Given the description of an element on the screen output the (x, y) to click on. 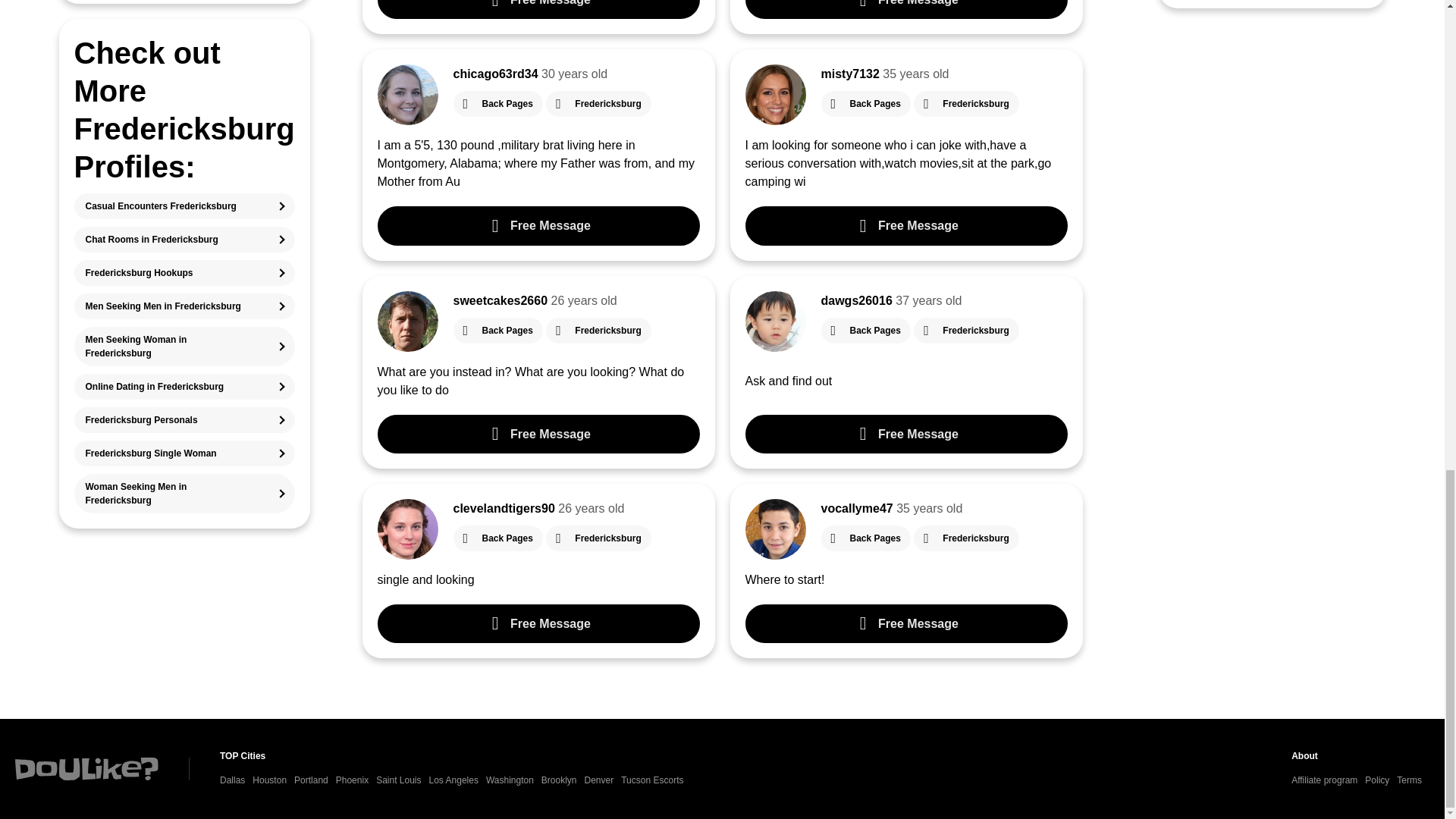
misty7132 (850, 73)
Fredericksburg (598, 103)
Fredericksburg (965, 103)
Free Message (905, 225)
sweetcakes2660 (500, 300)
Free Message (538, 9)
Free Message (538, 225)
Free Message (905, 9)
chicago63rd34 (495, 73)
